Given the description of an element on the screen output the (x, y) to click on. 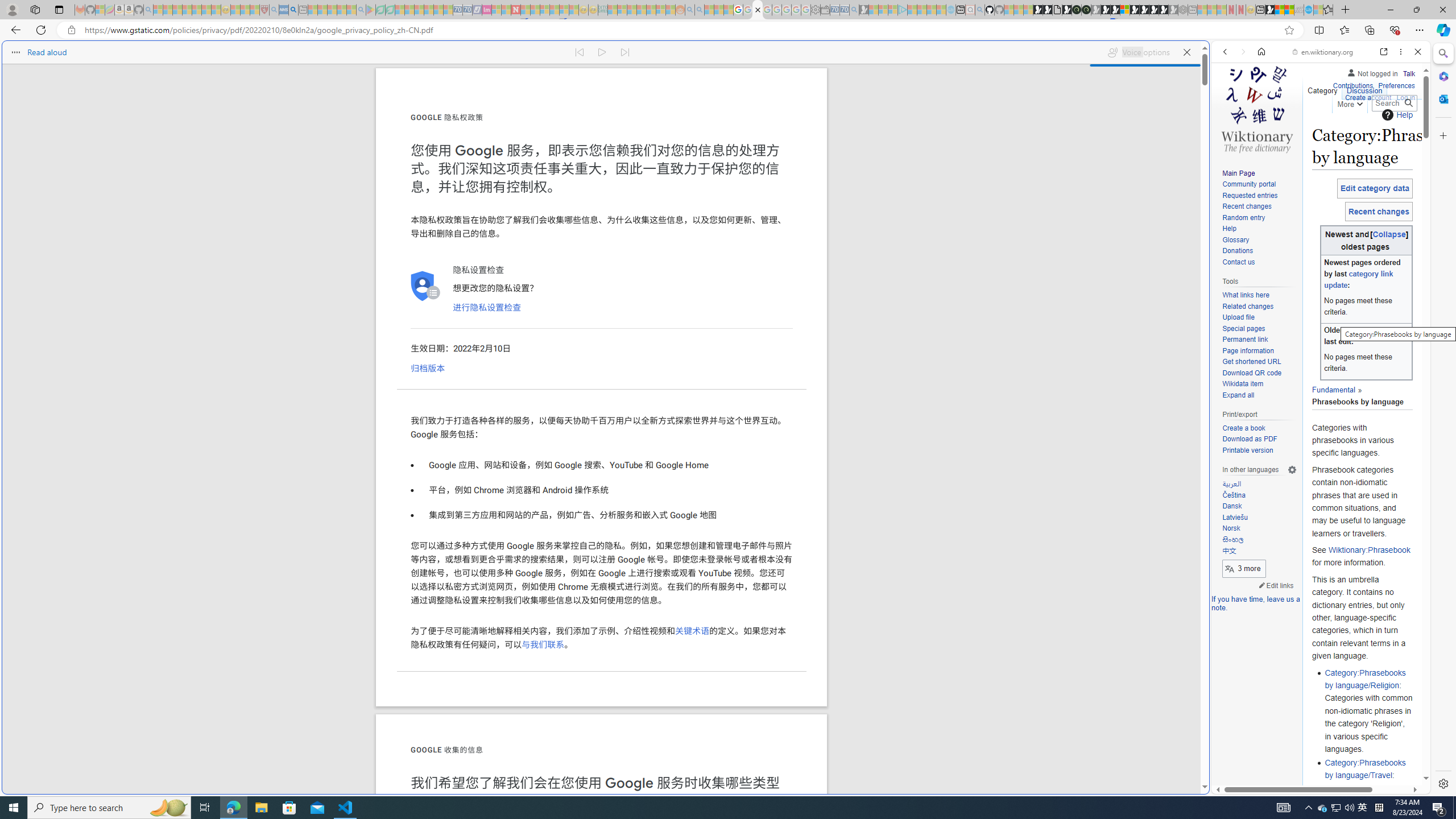
Tabs you've opened (885, 151)
Special pages (1243, 328)
Continue to read aloud (Ctrl+Shift+U) (602, 52)
Main Page (1259, 173)
Create a book (1243, 427)
Random entry (1243, 216)
